Given the description of an element on the screen output the (x, y) to click on. 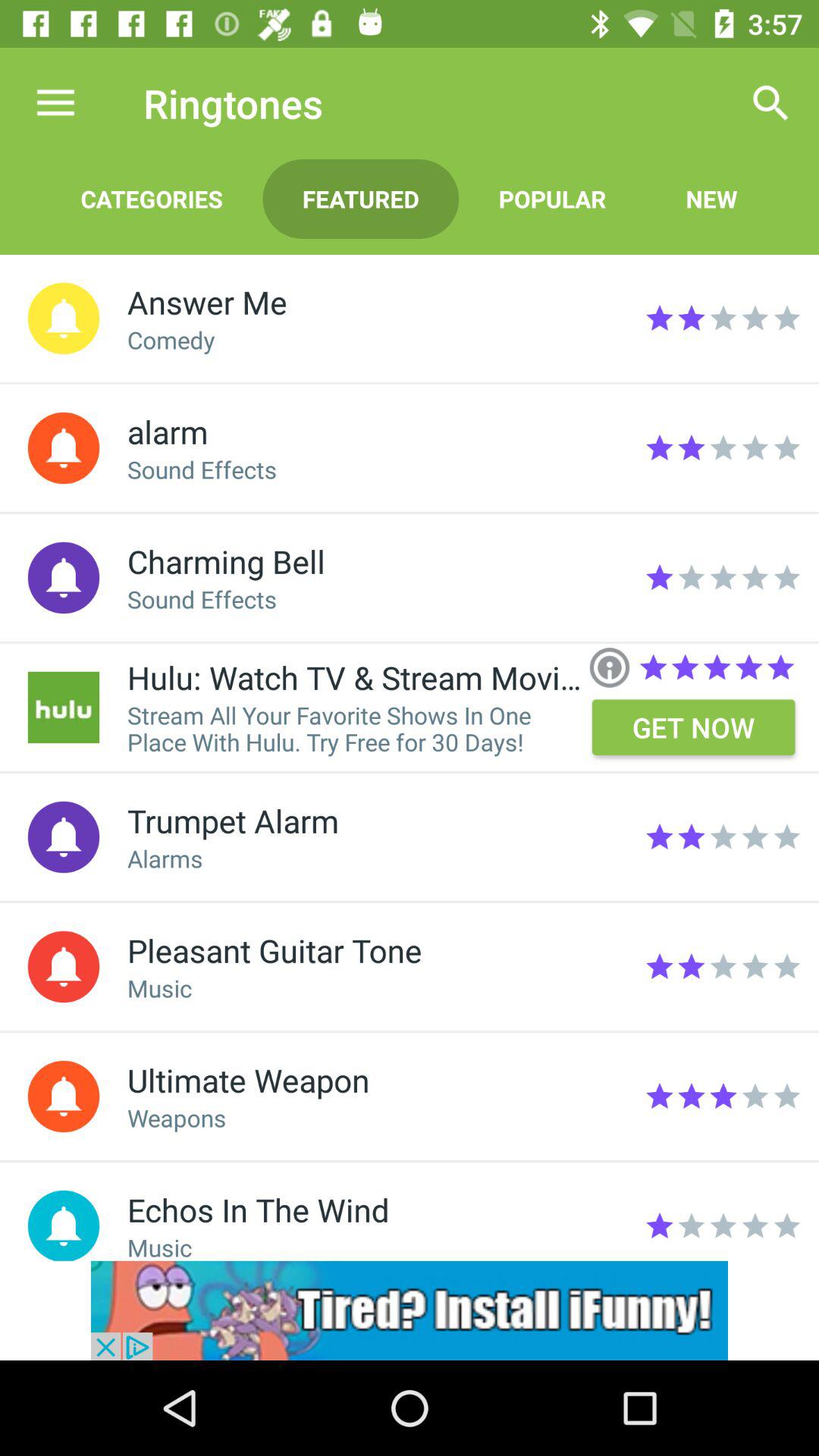
see image (63, 707)
